Given the description of an element on the screen output the (x, y) to click on. 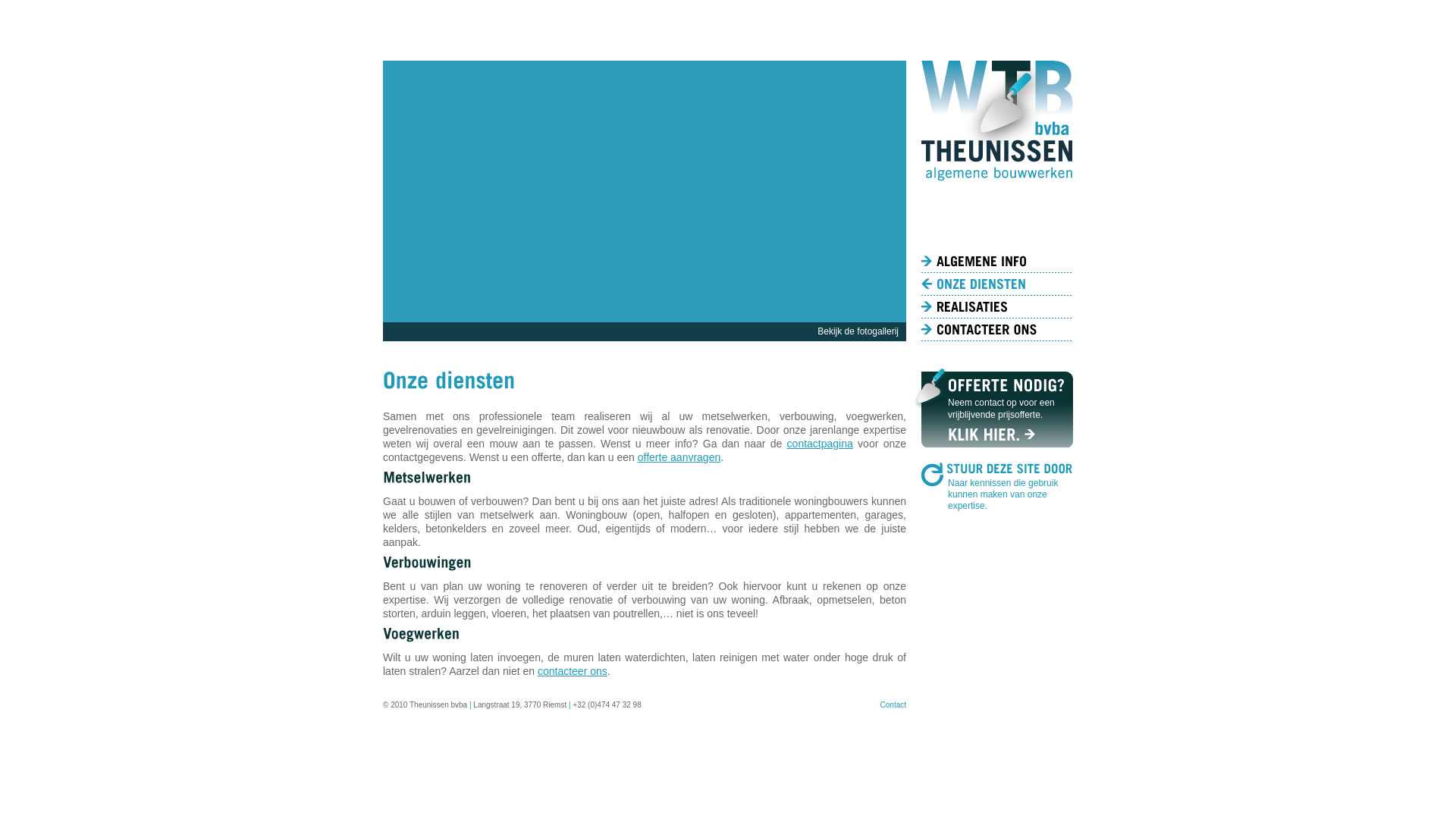
Contacteer ons Element type: text (997, 329)
Contact Element type: text (893, 704)
Onze diensten Element type: text (997, 284)
Algemene info Element type: text (997, 261)
contactpagina Element type: text (820, 443)
offerte aanvragen Element type: text (679, 457)
contacteer ons Element type: text (572, 671)
Onze realisaties Element type: text (997, 306)
Home Element type: text (997, 238)
Bekijk de fotogallerij Element type: text (857, 331)
